Given the description of an element on the screen output the (x, y) to click on. 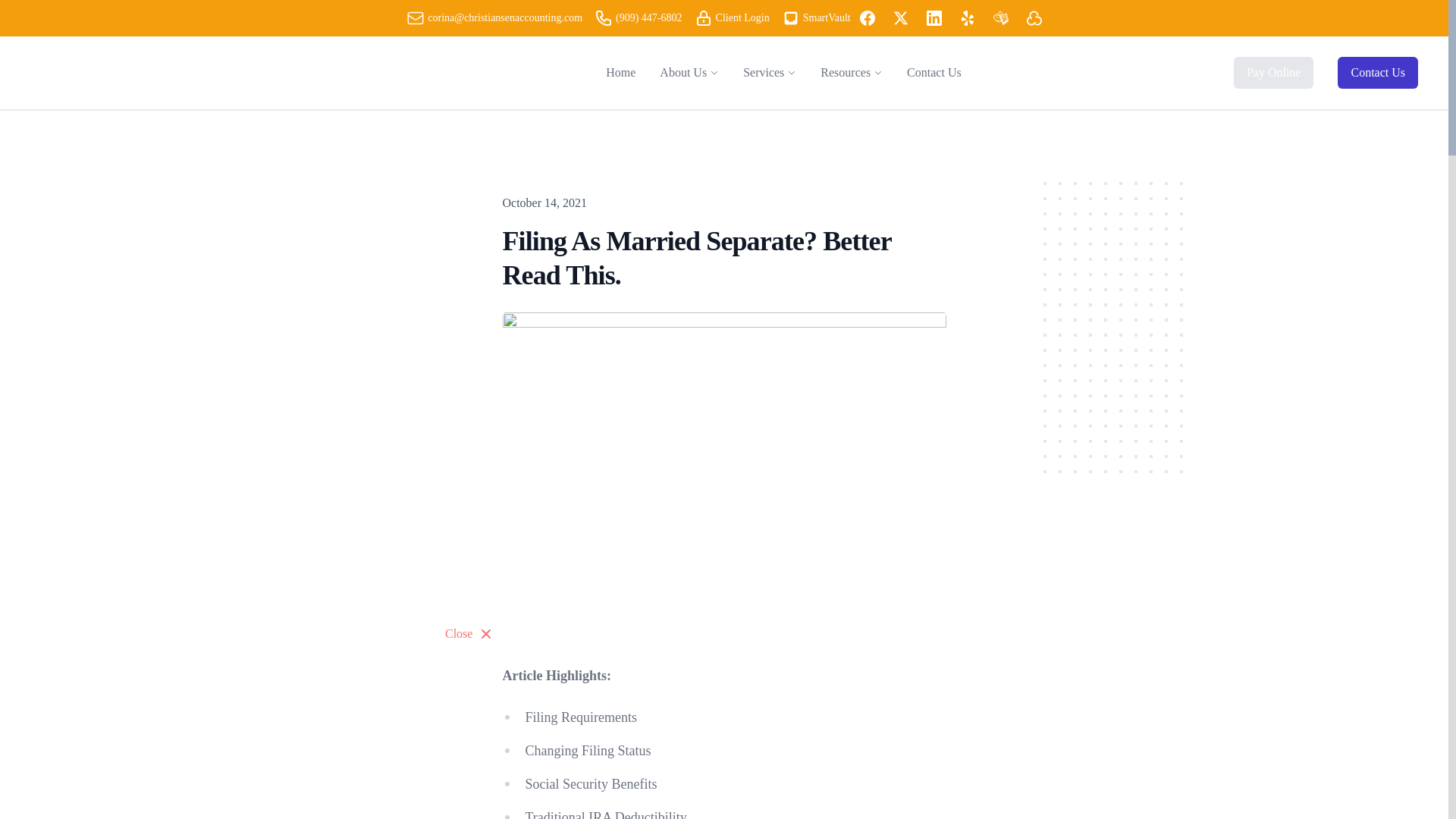
Contact Us (934, 72)
SmartVault (790, 18)
Contact Us (1378, 72)
Services (763, 72)
Home (620, 72)
Pay Online (1273, 72)
Home (620, 72)
phone (603, 18)
yelp (967, 17)
Client Login (732, 18)
SmartVault (815, 18)
Facebook (867, 17)
Christiansen Accounting (181, 72)
Twitter (900, 17)
About Us (682, 72)
